Given the description of an element on the screen output the (x, y) to click on. 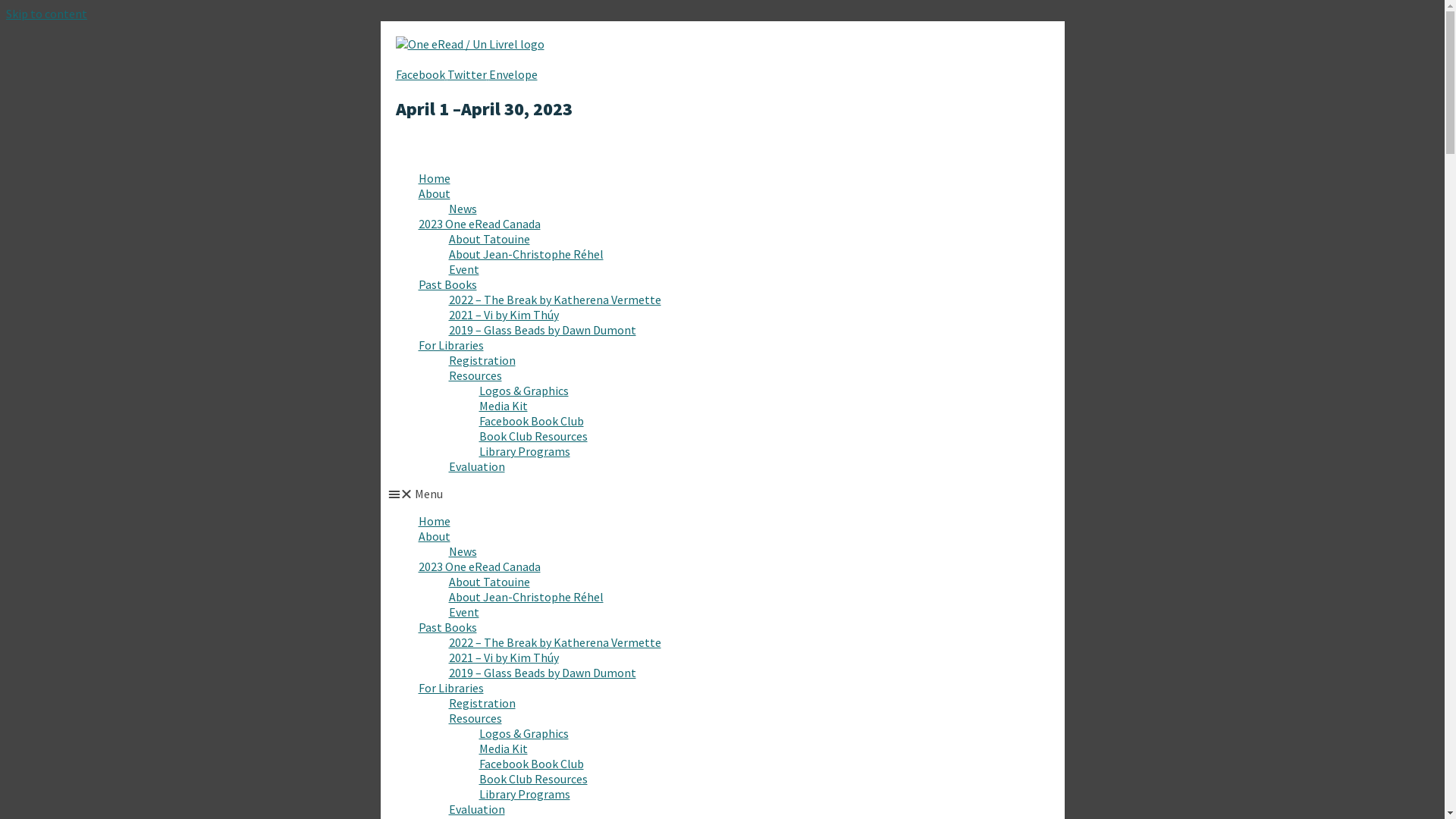
Skip to content Element type: text (46, 13)
Library Programs Element type: text (524, 793)
About Element type: text (434, 535)
Book Club Resources Element type: text (533, 435)
Facebook Element type: text (421, 73)
For Libraries Element type: text (450, 344)
About Element type: text (434, 192)
News Element type: text (462, 208)
Resources Element type: text (475, 374)
News Element type: text (462, 550)
Home Element type: text (434, 520)
Event Element type: text (463, 611)
Resources Element type: text (475, 717)
About Tatouine Element type: text (489, 581)
Media Kit Element type: text (503, 748)
For Libraries Element type: text (450, 687)
Facebook Book Club Element type: text (531, 763)
Registration Element type: text (481, 702)
Evaluation Element type: text (476, 465)
Media Kit Element type: text (503, 405)
Twitter Element type: text (468, 73)
Evaluation Element type: text (476, 808)
Book Club Resources Element type: text (533, 778)
Home Element type: text (434, 177)
Envelope Element type: text (512, 73)
About Tatouine Element type: text (489, 238)
Registration Element type: text (481, 359)
Logos & Graphics Element type: text (523, 732)
2023 One eRead Canada Element type: text (479, 223)
Past Books Element type: text (447, 626)
Past Books Element type: text (447, 283)
Facebook Book Club Element type: text (531, 420)
2023 One eRead Canada Element type: text (479, 566)
Logos & Graphics Element type: text (523, 390)
Event Element type: text (463, 268)
Library Programs Element type: text (524, 450)
